Given the description of an element on the screen output the (x, y) to click on. 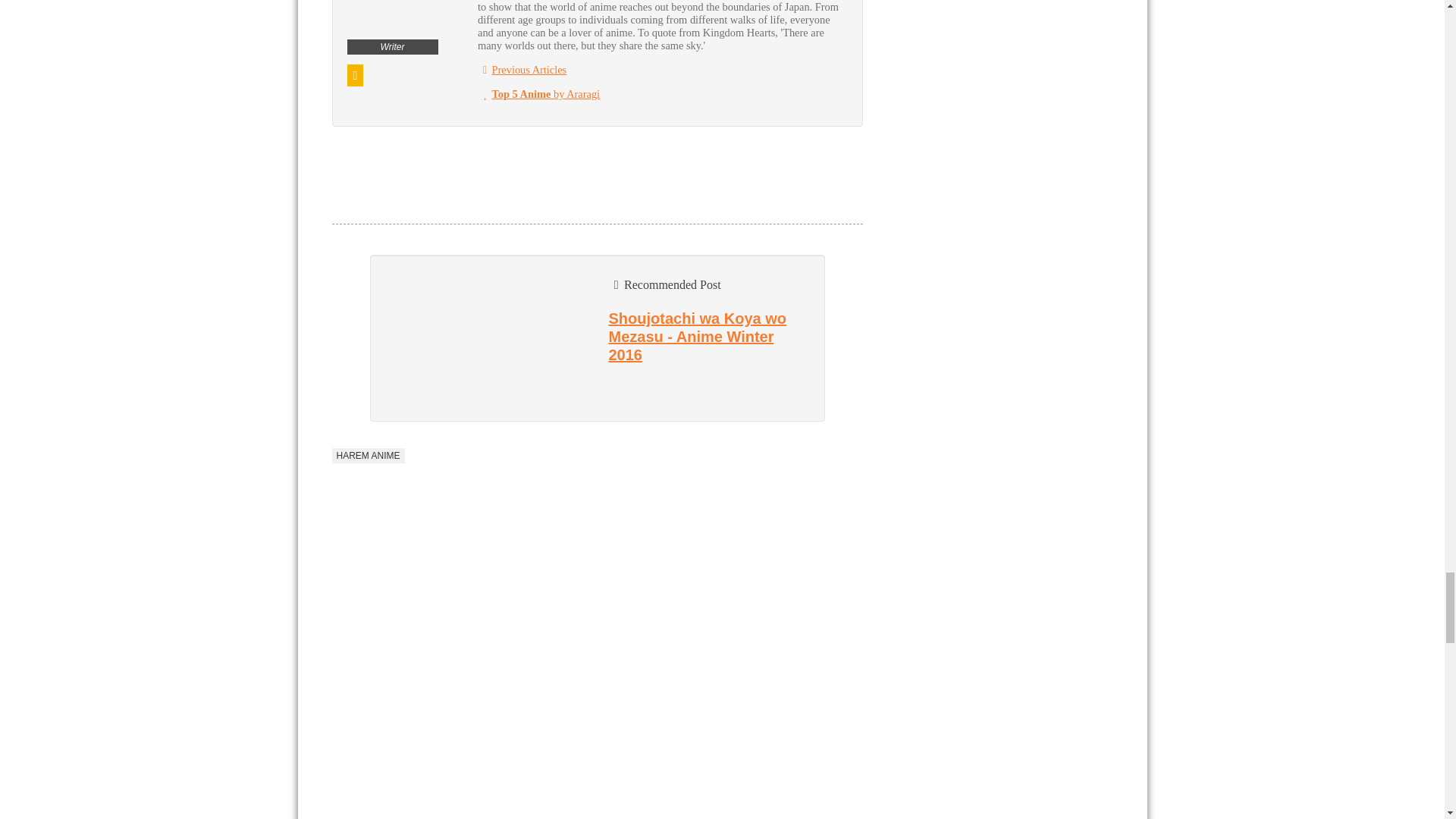
Top 5 Anime by Araragi (538, 93)
Previous Articles (521, 69)
Shoujotachi wa Koya wo Mezasu - Anime Winter 2016 (697, 336)
HAREM ANIME (367, 455)
